Given the description of an element on the screen output the (x, y) to click on. 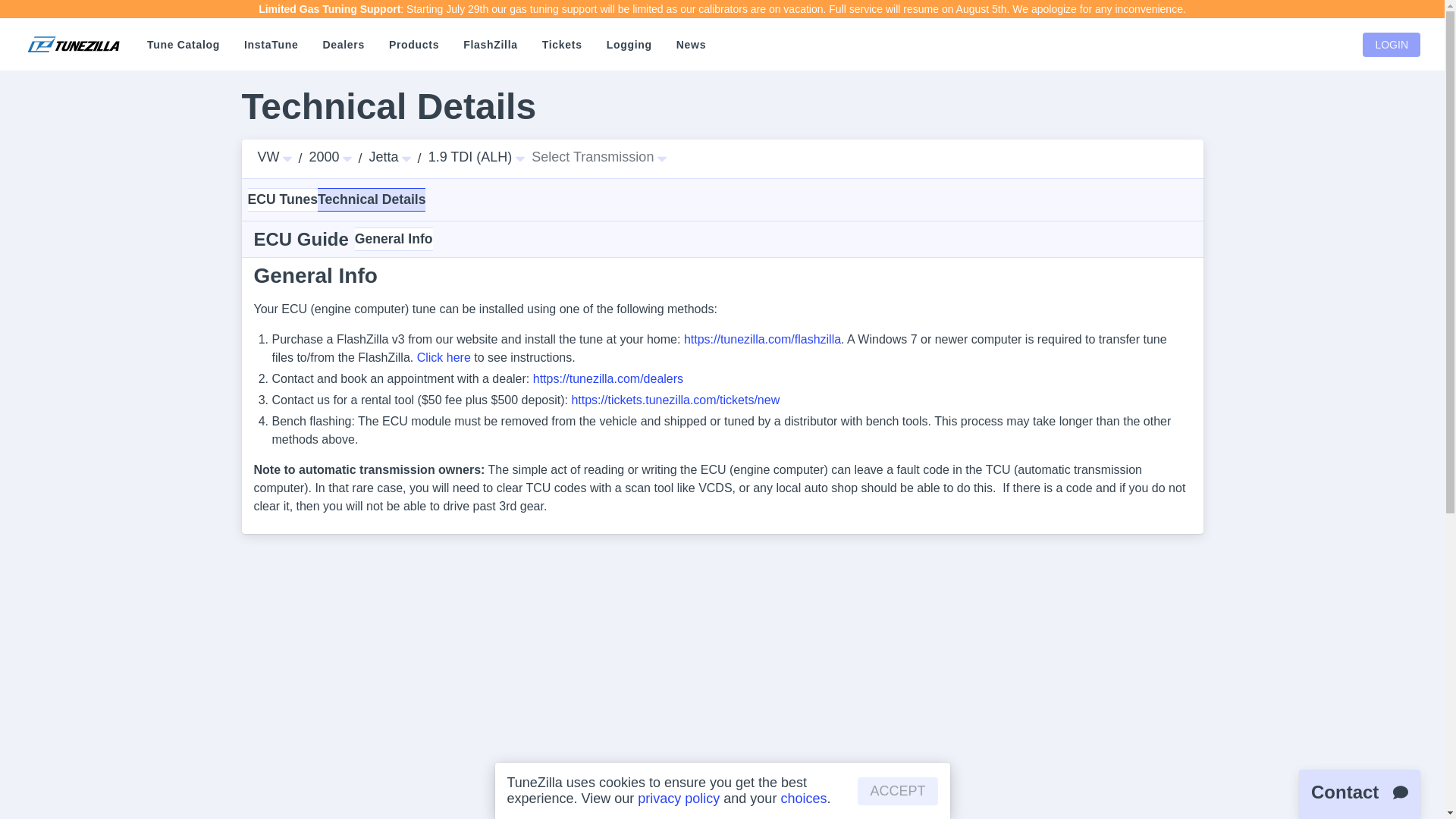
Dealers (343, 44)
FlashZilla (490, 44)
Logging (628, 44)
Tune Catalog (183, 44)
InstaTune (270, 44)
News (690, 44)
Products (414, 44)
Tickets (561, 44)
